Given the description of an element on the screen output the (x, y) to click on. 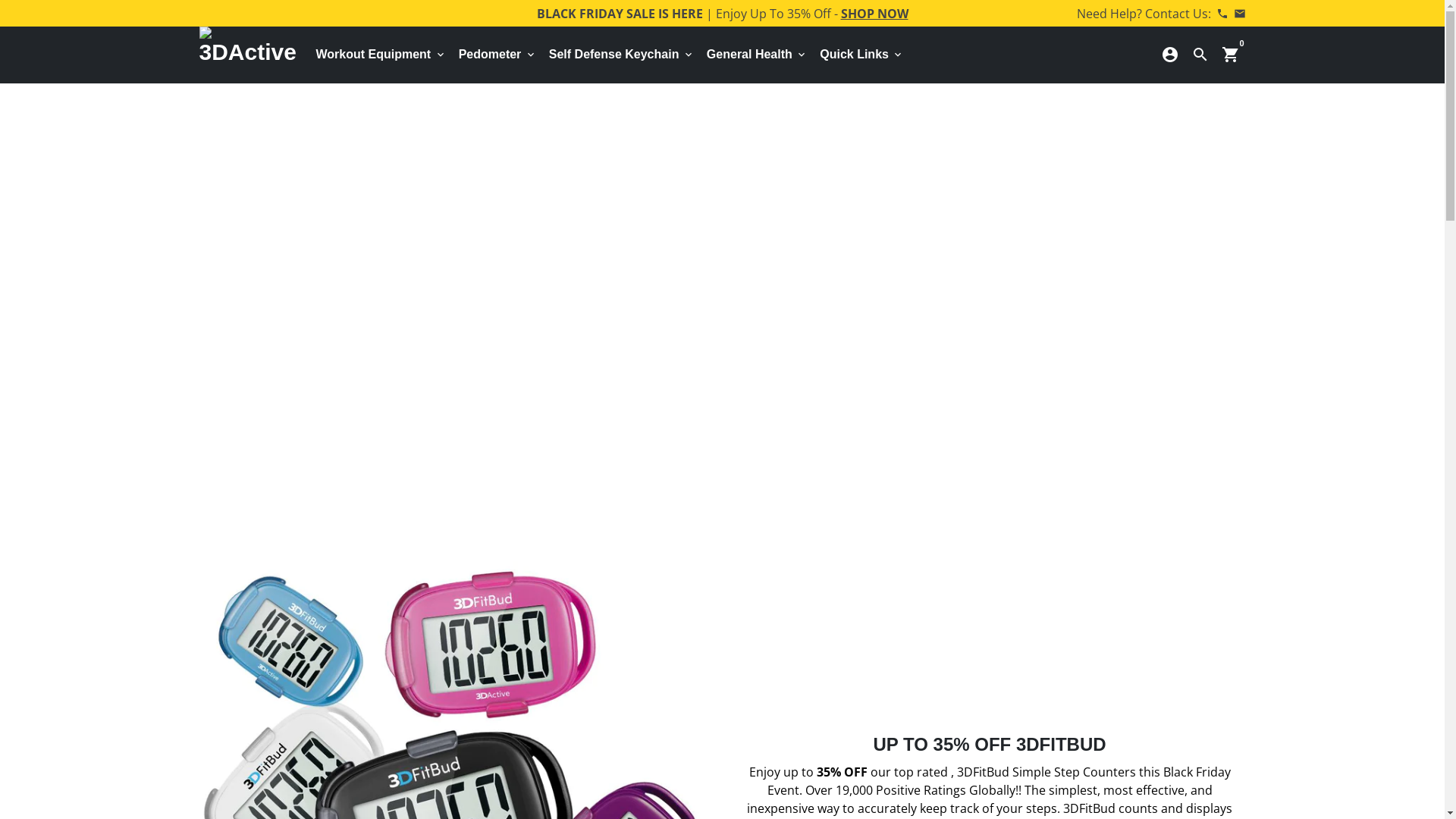
email Element type: text (1239, 12)
account_circle Element type: text (1169, 54)
Workout Equipment keyboard_arrow_down Element type: text (380, 54)
Self Defense Keychain keyboard_arrow_down Element type: text (621, 54)
Pedometer keyboard_arrow_down Element type: text (497, 54)
Quick Links keyboard_arrow_down Element type: text (861, 54)
Skip to content Element type: text (0, 0)
shopping_cart
0 Element type: text (1229, 54)
SHOP NOW Element type: text (873, 12)
phone Element type: text (1222, 12)
search Element type: text (1199, 54)
General Health keyboard_arrow_down Element type: text (756, 54)
